Given the description of an element on the screen output the (x, y) to click on. 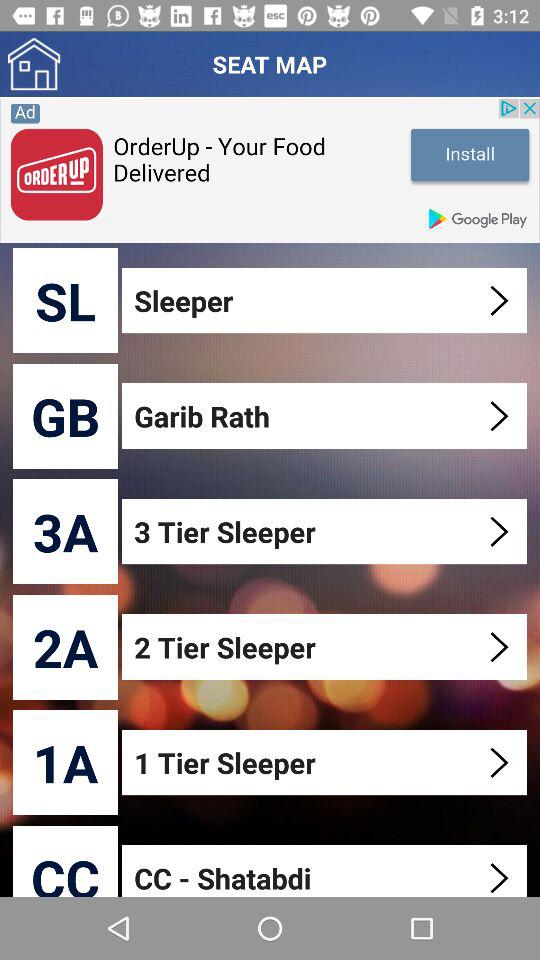
turn off the icon to the left of 2 tier sleeper item (65, 646)
